Given the description of an element on the screen output the (x, y) to click on. 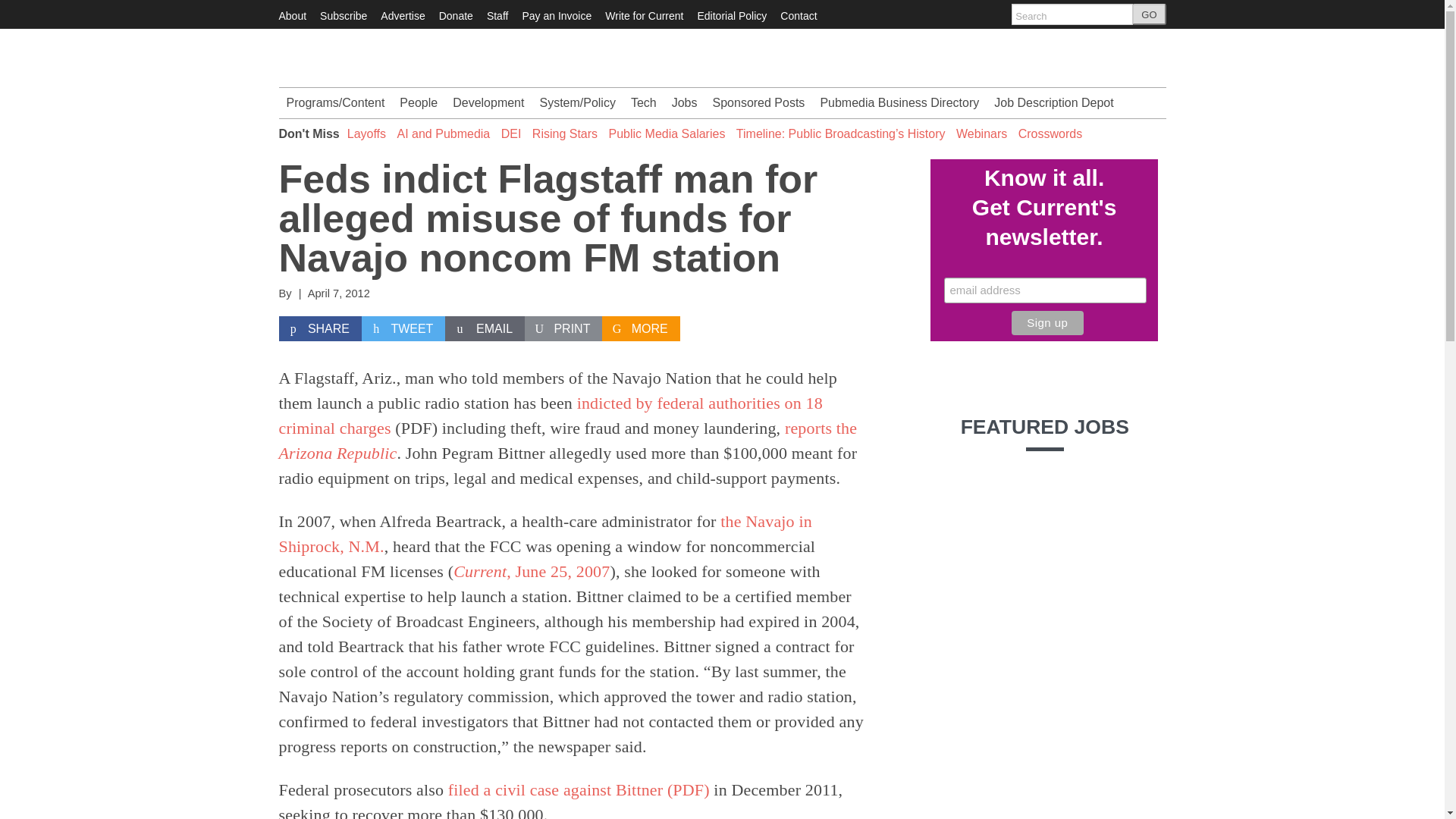
Sign up (1047, 322)
GO (1149, 14)
Editorial Policy (732, 15)
Write for Current (643, 15)
Staff (497, 15)
Subscribe (343, 15)
Pay an Invoice (556, 15)
People (418, 102)
Development (488, 102)
Donate (456, 15)
